Given the description of an element on the screen output the (x, y) to click on. 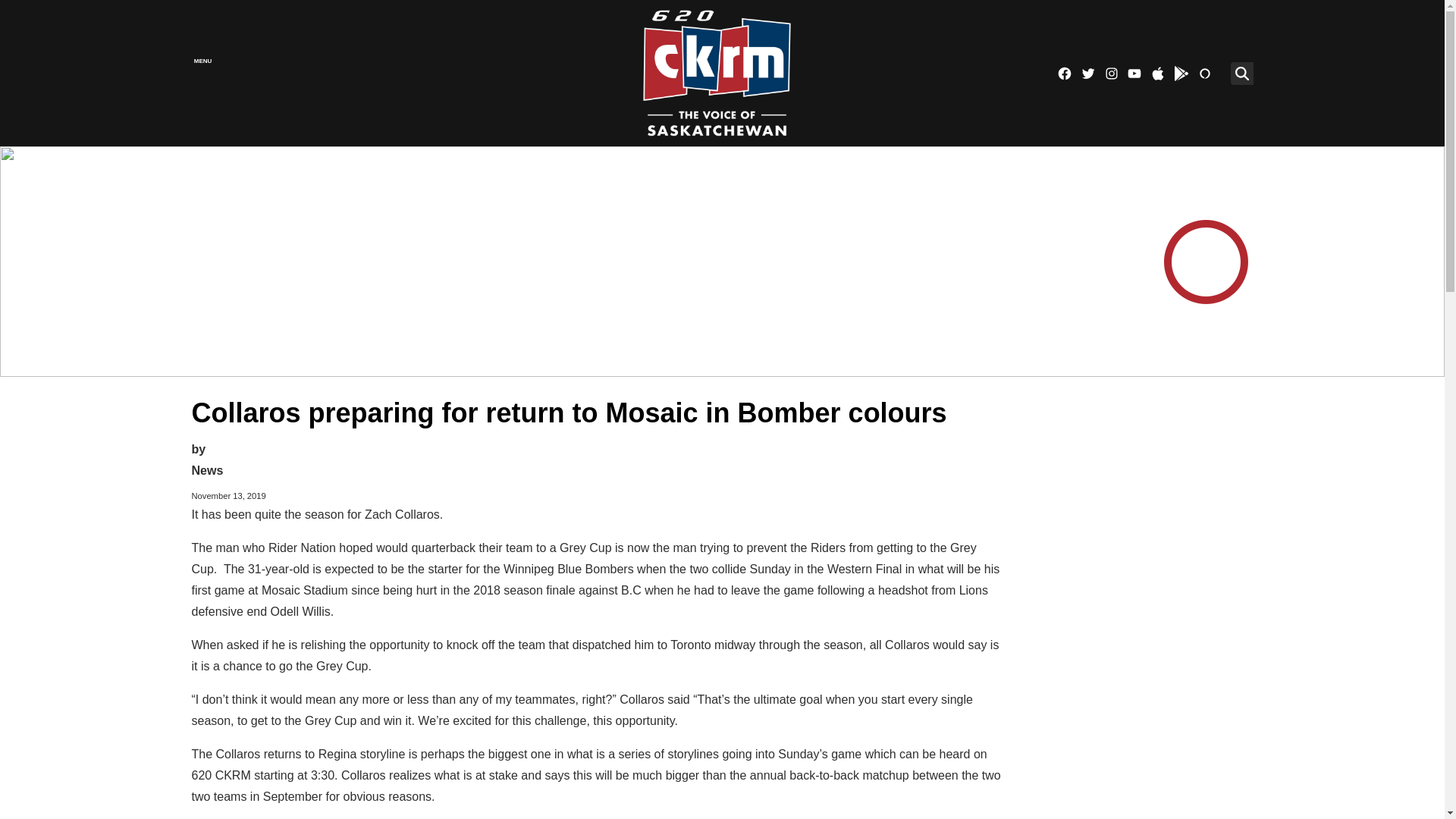
Ask Alexa (1203, 73)
Google Play (1181, 73)
Instagram (1111, 73)
YouTube (1133, 73)
Apple Store (1158, 73)
Twitter (1088, 73)
Facebook (1064, 73)
